Given the description of an element on the screen output the (x, y) to click on. 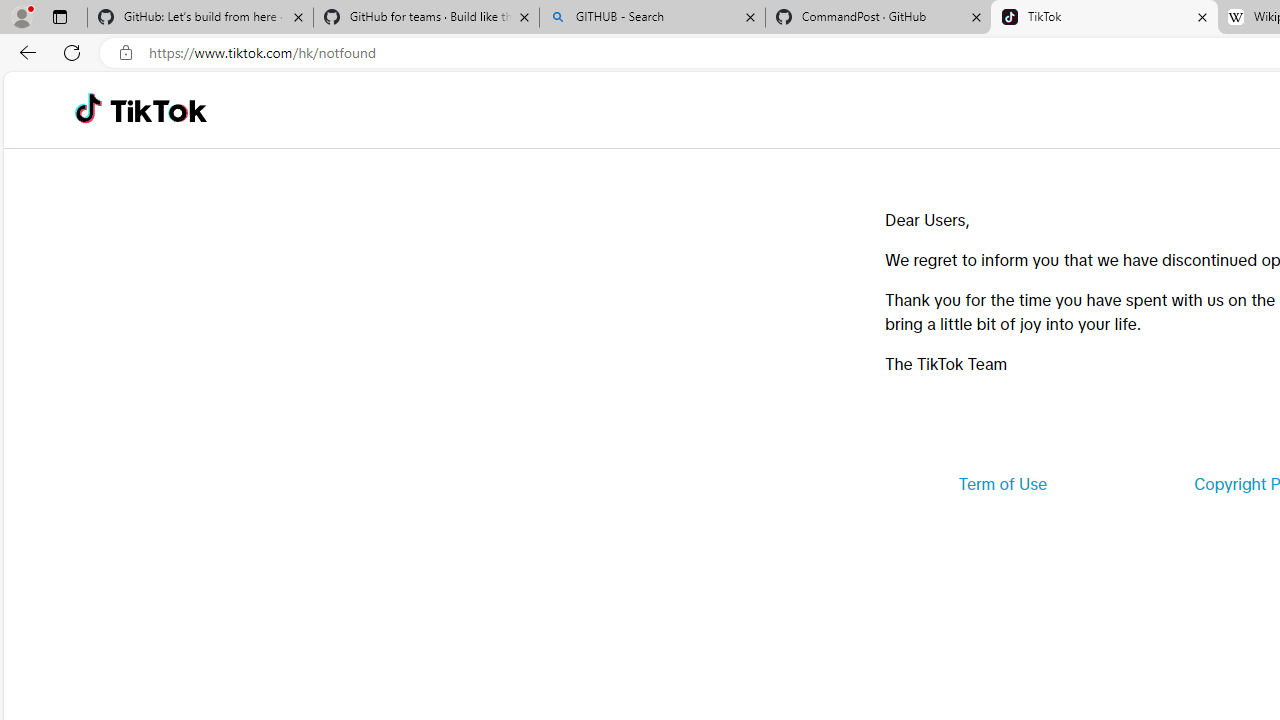
GITHUB - Search (652, 17)
Term of Use (1002, 484)
